Given the description of an element on the screen output the (x, y) to click on. 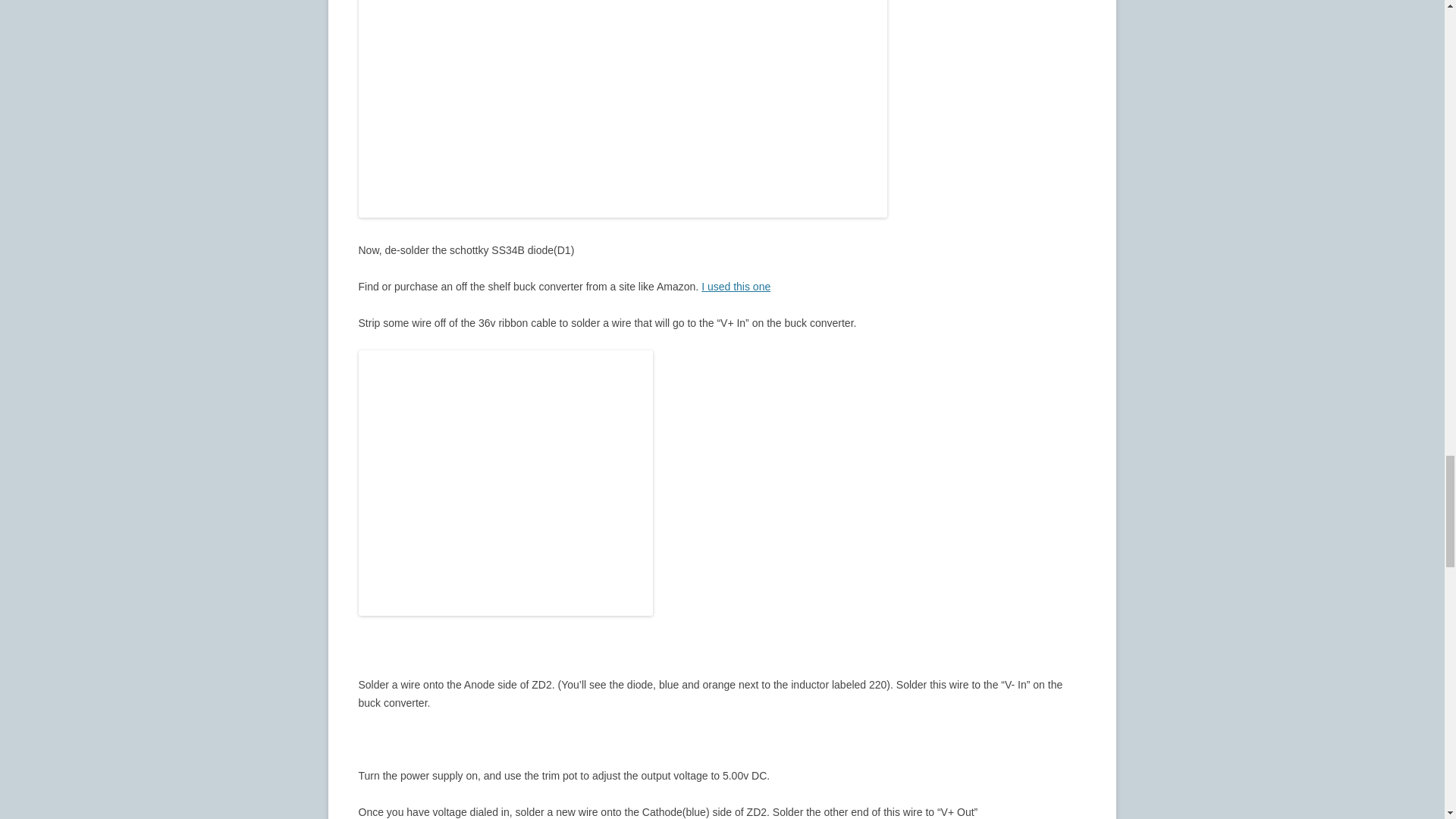
I used this one (735, 286)
